Given the description of an element on the screen output the (x, y) to click on. 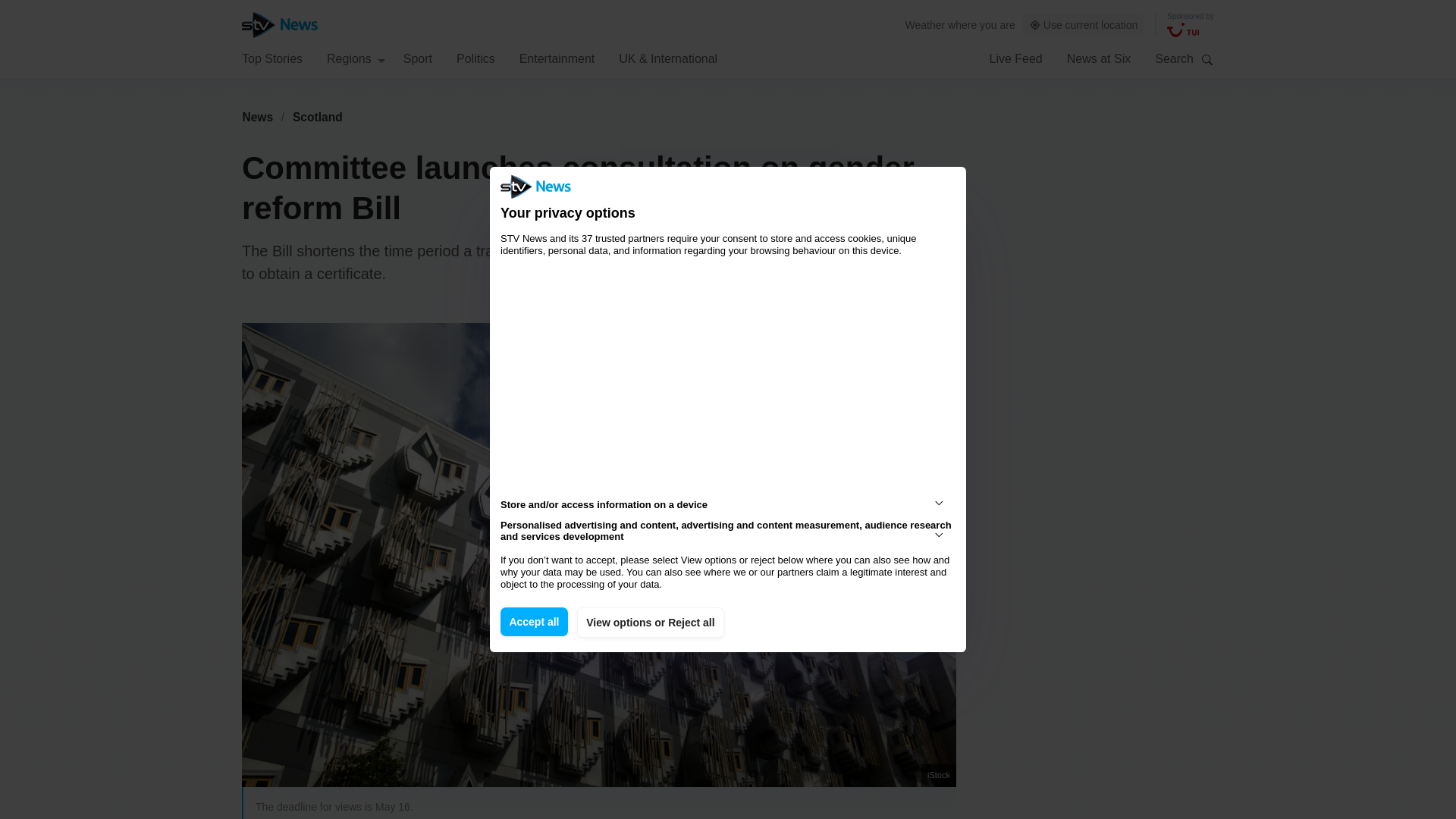
Regions (355, 57)
Politics (476, 57)
Top Stories (271, 57)
News at Six (1099, 57)
News (257, 116)
Search (1206, 59)
Entertainment (557, 57)
Live Feed (1015, 57)
Scotland (317, 116)
